Given the description of an element on the screen output the (x, y) to click on. 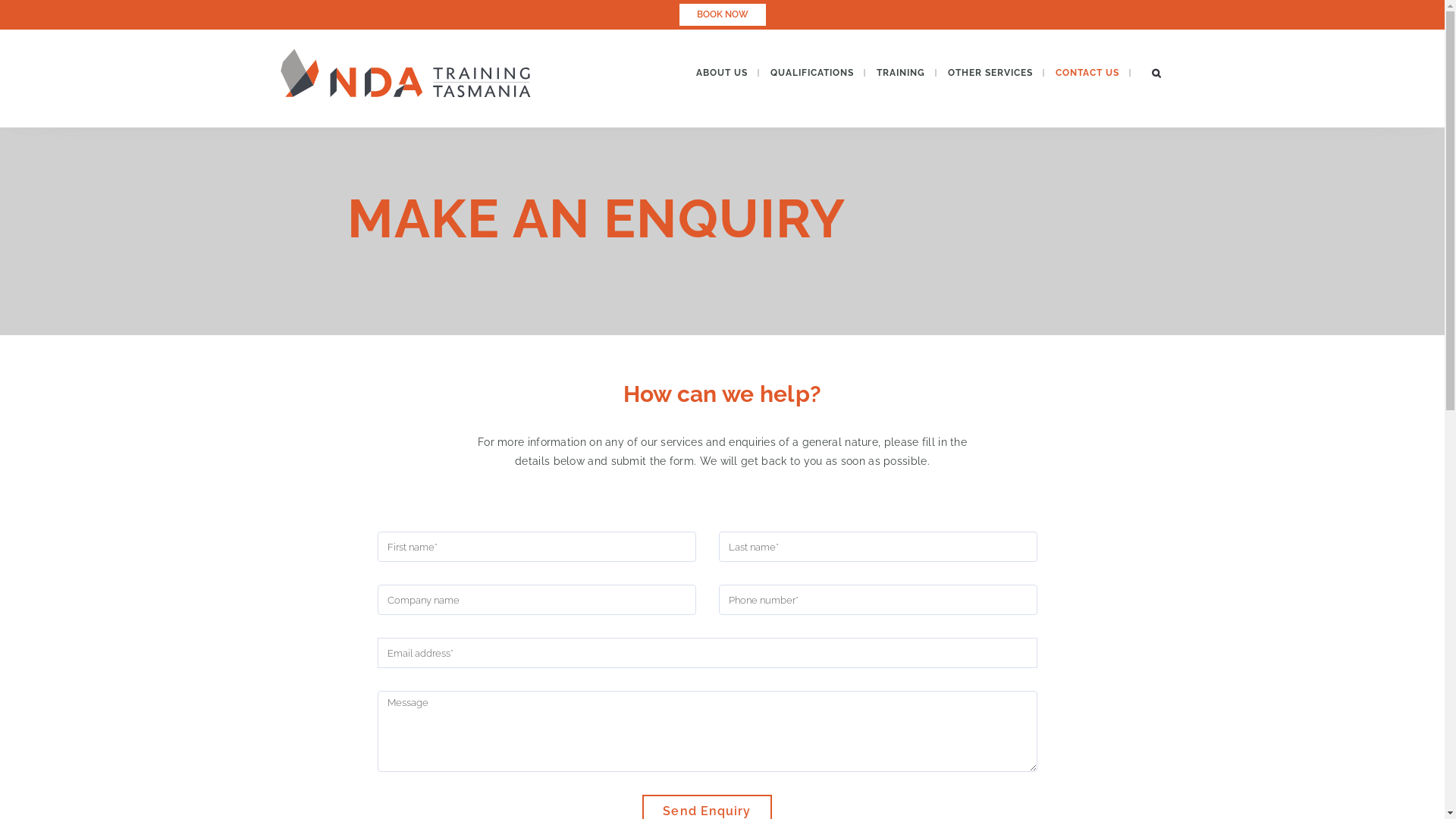
TRAINING Element type: text (899, 72)
ABOUT US Element type: text (721, 72)
CONTACT US Element type: text (1086, 72)
OTHER SERVICES Element type: text (989, 72)
MAKE AN ENQUIRY Element type: text (596, 218)
QUALIFICATIONS Element type: text (811, 72)
BOOK NOW Element type: text (722, 14)
